Given the description of an element on the screen output the (x, y) to click on. 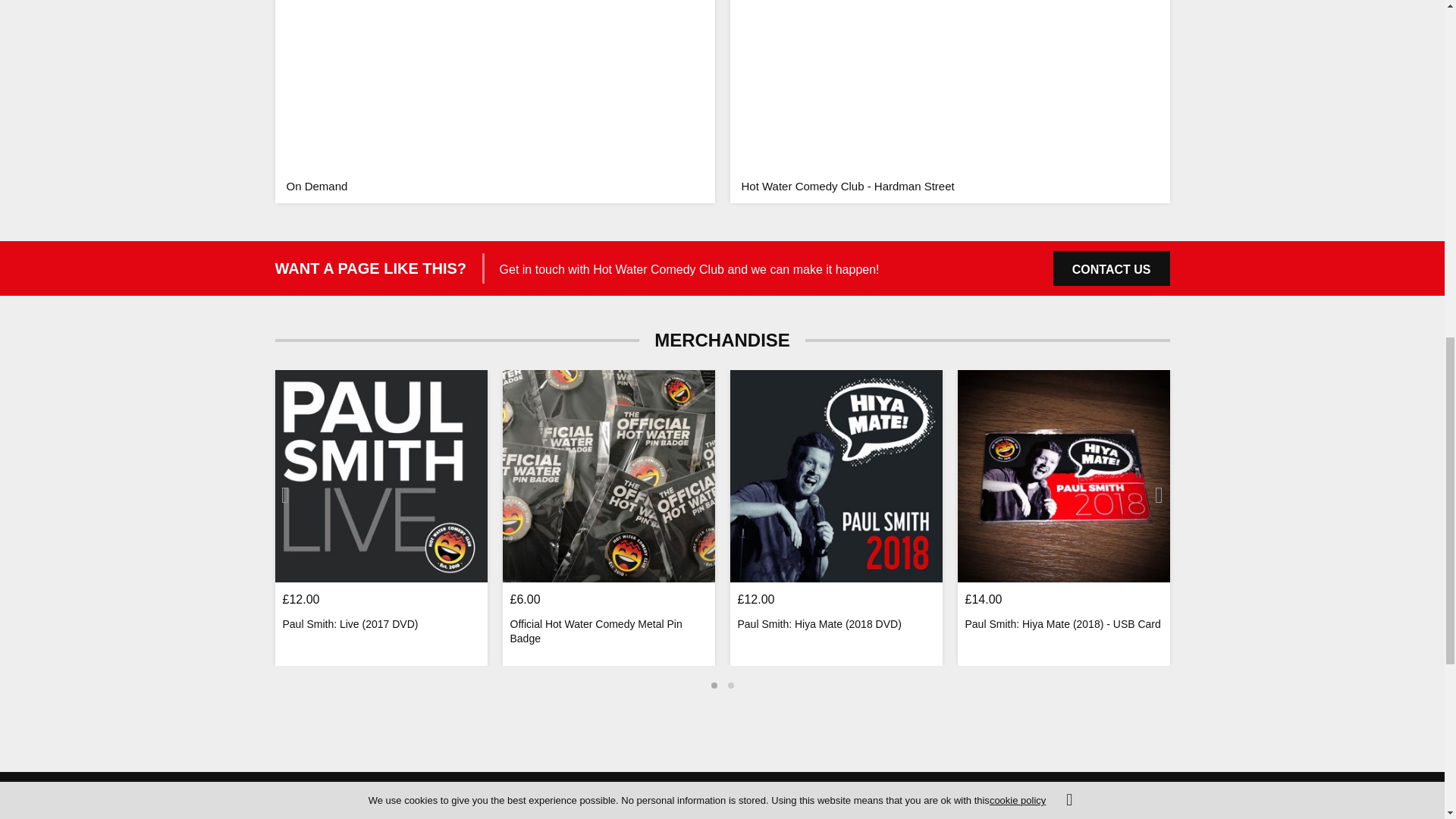
Previous (284, 494)
Official Hot Water Comedy Metal Pin Badge (608, 476)
CONTACT US (1111, 267)
Official Hot Water Comedy Metal Pin Badge (607, 632)
